Given the description of an element on the screen output the (x, y) to click on. 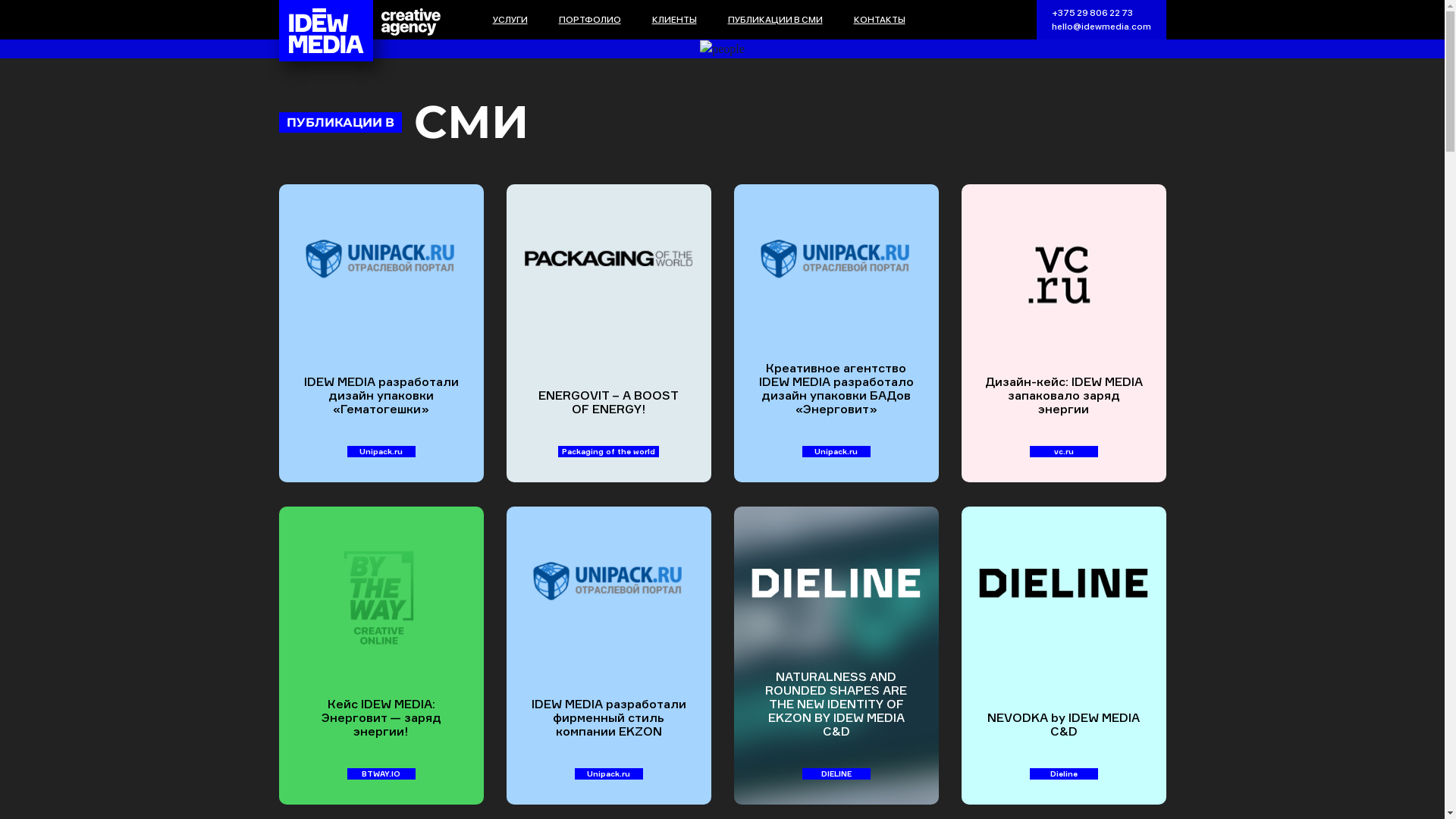
hello@idewmedia.com Element type: text (1100, 26)
NEVODKA by IDEW MEDIA C&D
Dieline Element type: text (1063, 655)
+375 29 806 22 73 Element type: text (1091, 12)
